Given the description of an element on the screen output the (x, y) to click on. 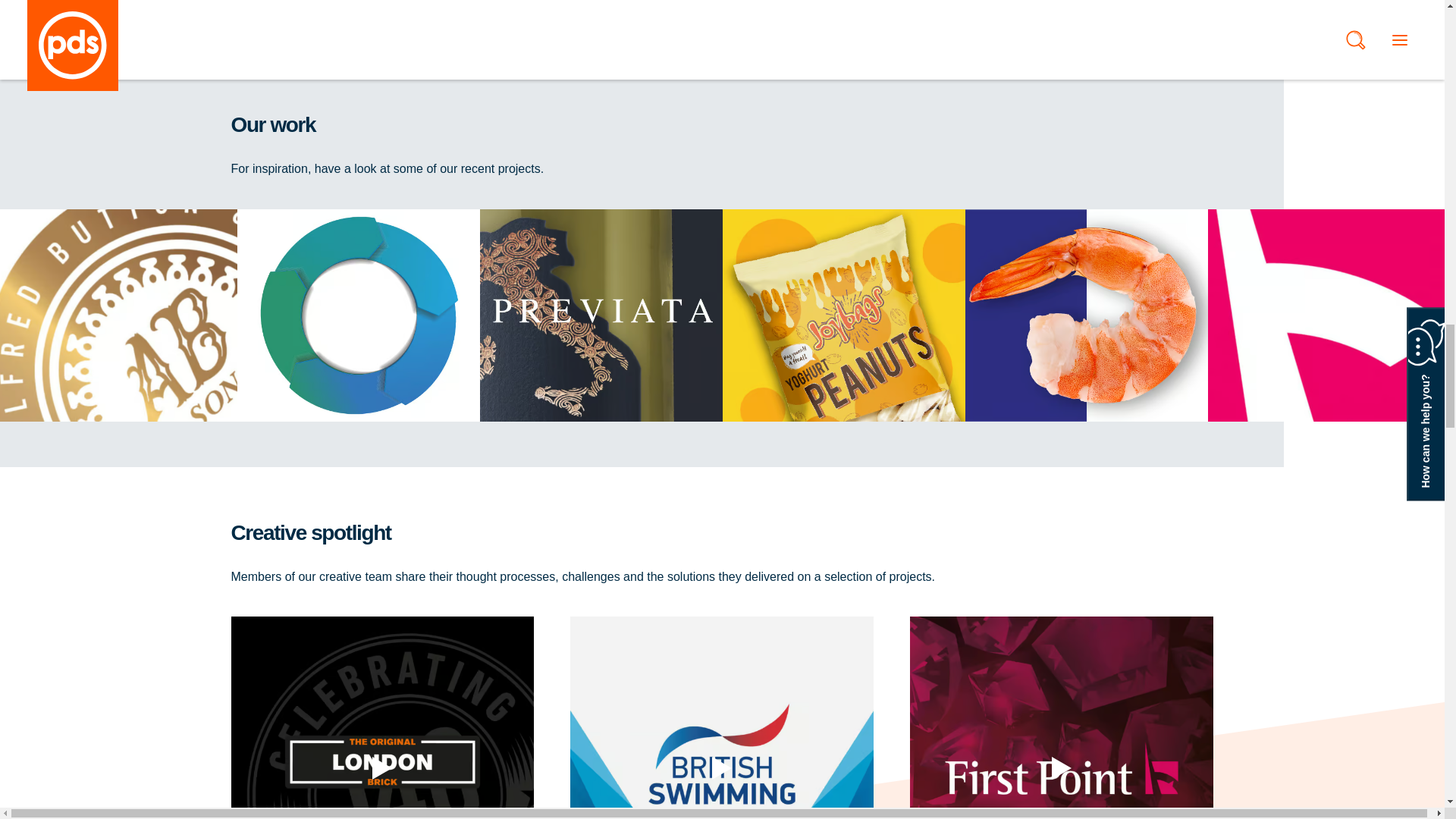
Loop Logistics (357, 315)
Alfred Button Gin (117, 315)
Joypots Confectionery (842, 315)
First Point Insurance (1328, 315)
Chefs Larder (1085, 315)
Previata Wine (600, 315)
